Given the description of an element on the screen output the (x, y) to click on. 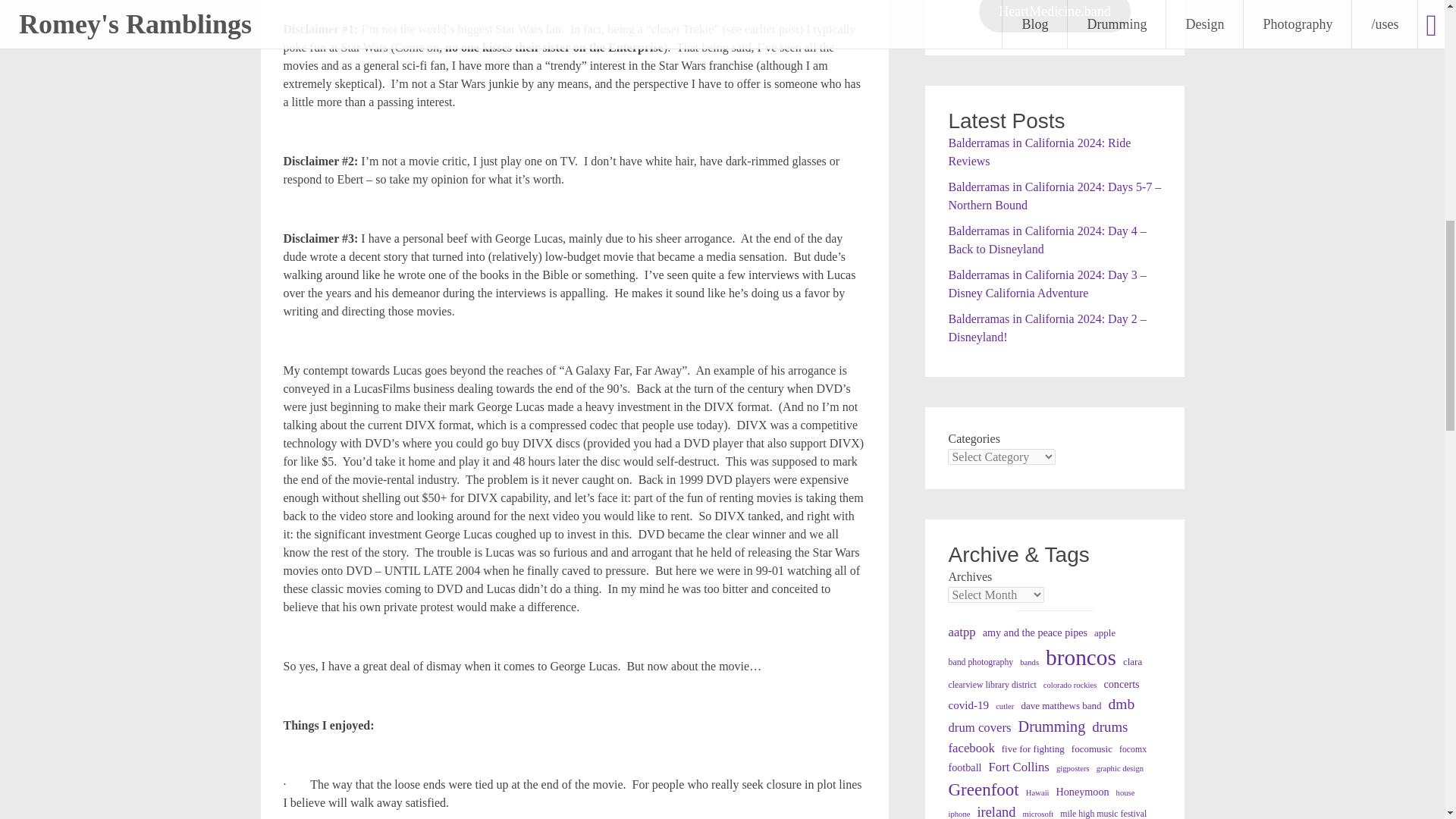
amy and the peace pipes (1034, 632)
clara (1131, 661)
apple (1104, 632)
band photography (980, 662)
HeartMedicine.band (1053, 16)
aatpp (961, 631)
clearview library district (991, 685)
bands (1029, 662)
Balderramas in California 2024: Ride Reviews (1039, 151)
broncos (1080, 657)
